Given the description of an element on the screen output the (x, y) to click on. 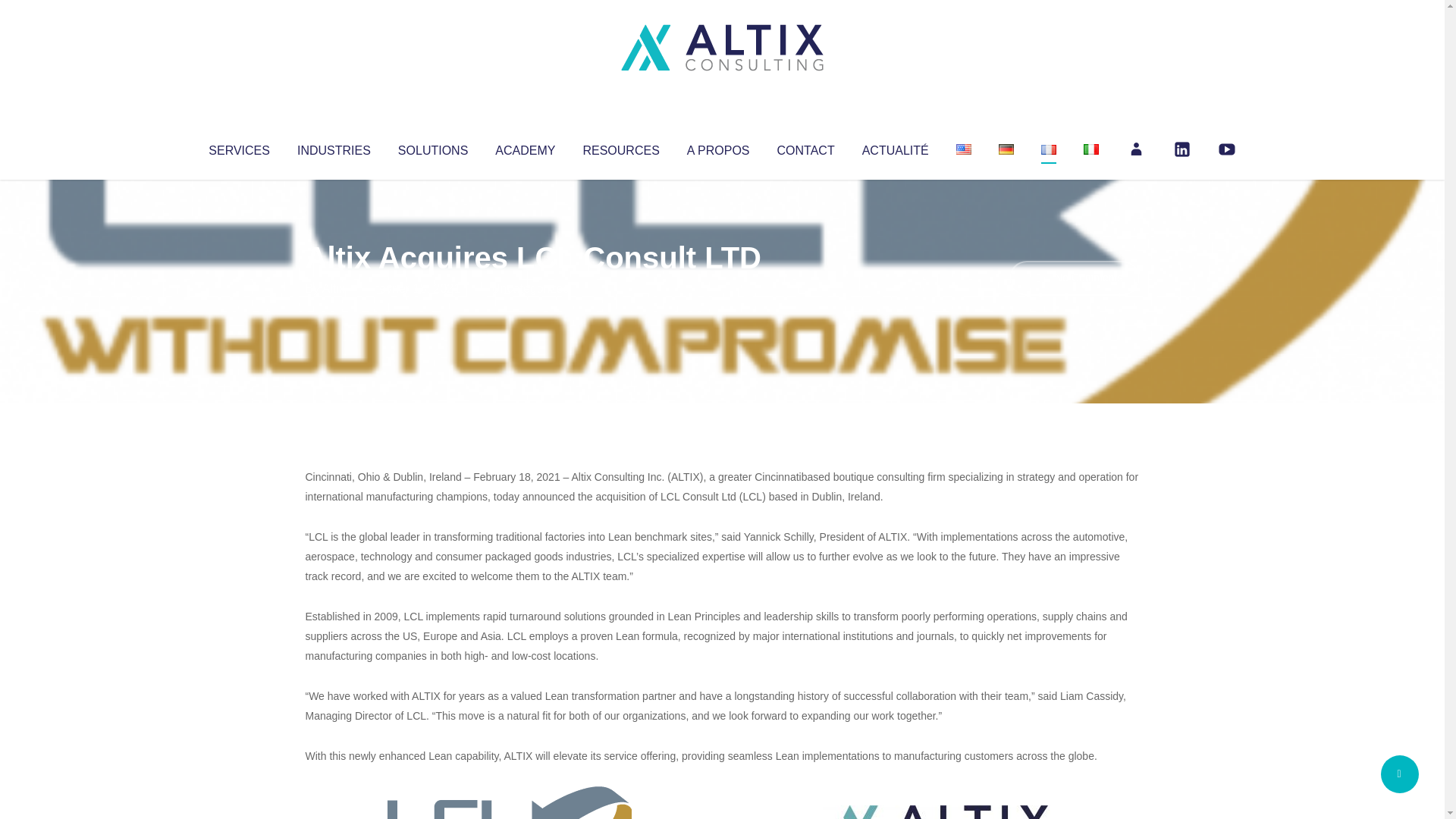
RESOURCES (620, 146)
ACADEMY (524, 146)
No Comments (1073, 278)
Altix (333, 287)
Articles par Altix (333, 287)
INDUSTRIES (334, 146)
SERVICES (238, 146)
Uncategorized (530, 287)
SOLUTIONS (432, 146)
A PROPOS (718, 146)
